Given the description of an element on the screen output the (x, y) to click on. 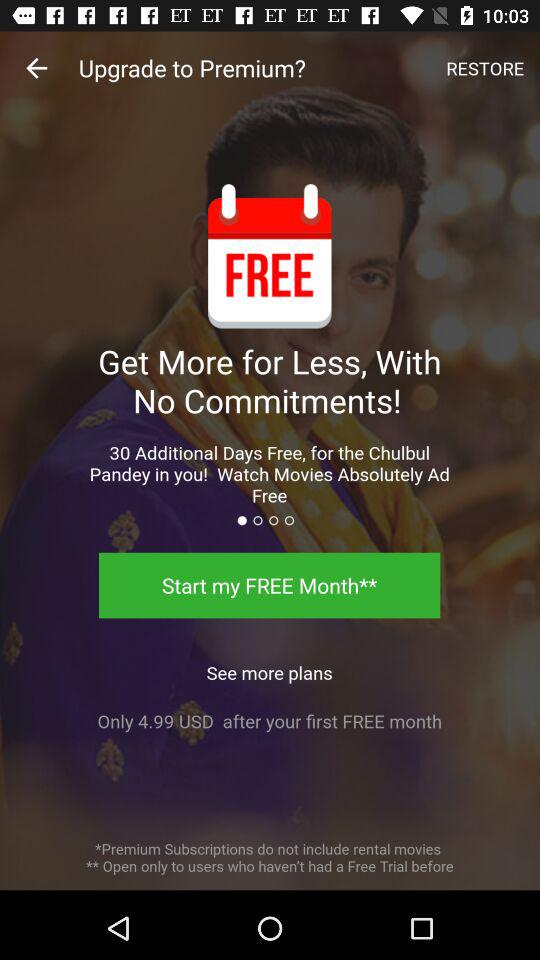
open item to the right of upgrade to premium? icon (485, 67)
